Given the description of an element on the screen output the (x, y) to click on. 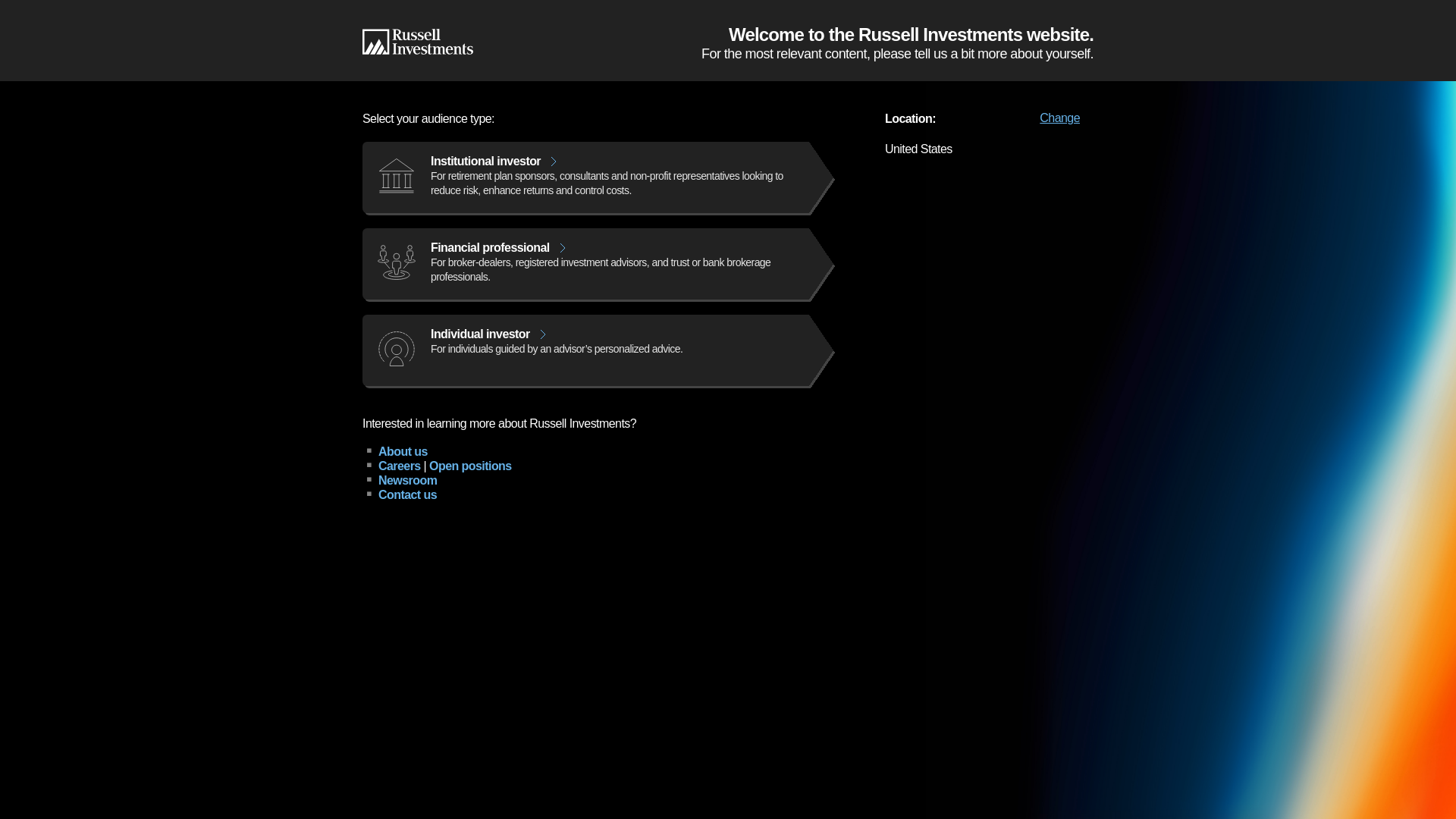
All Audiences (867, 12)
Newsroom (407, 480)
Contact us (407, 494)
Open positions (470, 465)
United States (985, 12)
About us (403, 451)
Careers (399, 465)
Change (1059, 117)
